Given the description of an element on the screen output the (x, y) to click on. 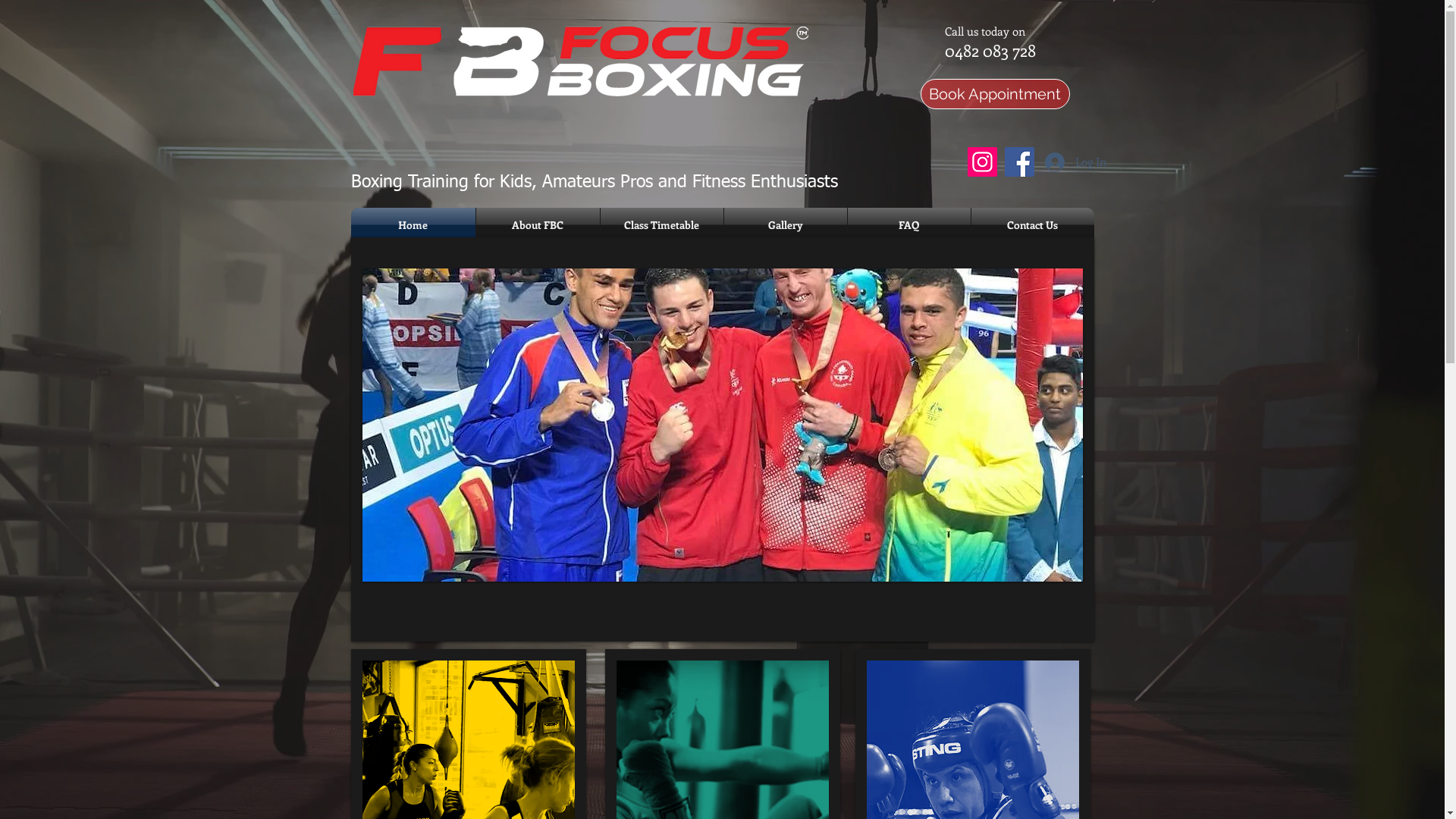
FAQ Element type: text (908, 224)
Class Timetable Element type: text (661, 224)
Home Element type: text (412, 224)
Log In Element type: text (1065, 161)
JOIN US Element type: text (981, 548)
Book Appointment Element type: text (995, 93)
About FBC Element type: text (537, 224)
Gallery Element type: text (784, 224)
Contact Us Element type: text (1031, 224)
